Given the description of an element on the screen output the (x, y) to click on. 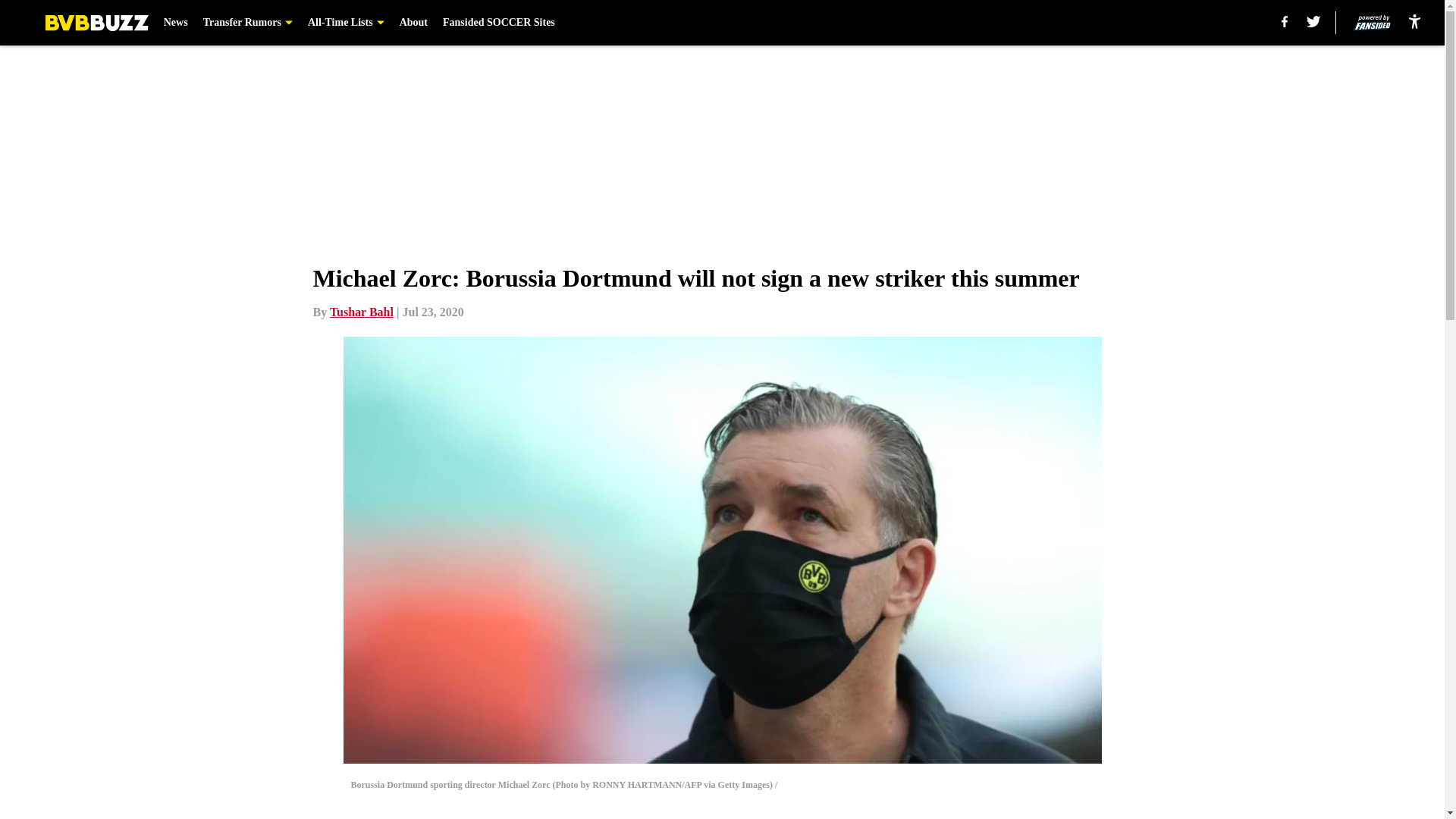
News (175, 22)
About (413, 22)
Tushar Bahl (361, 311)
Fansided SOCCER Sites (498, 22)
